Given the description of an element on the screen output the (x, y) to click on. 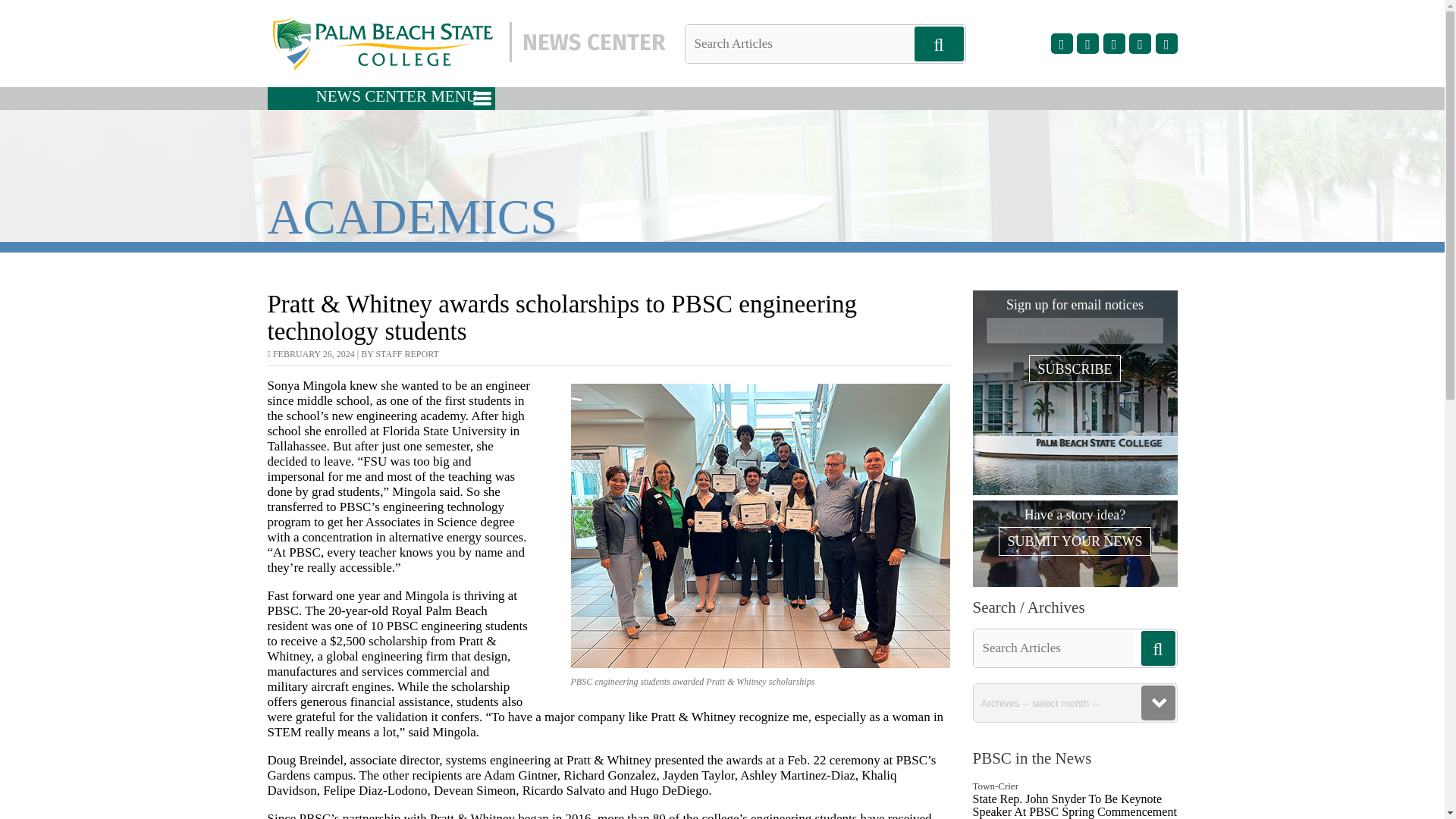
STAFF REPORT (406, 353)
Search (38, 11)
Subscribe (1074, 368)
SUBMIT YOUR NEWS (1074, 541)
Subscribe (1074, 368)
Posts by Staff Report (406, 353)
